Given the description of an element on the screen output the (x, y) to click on. 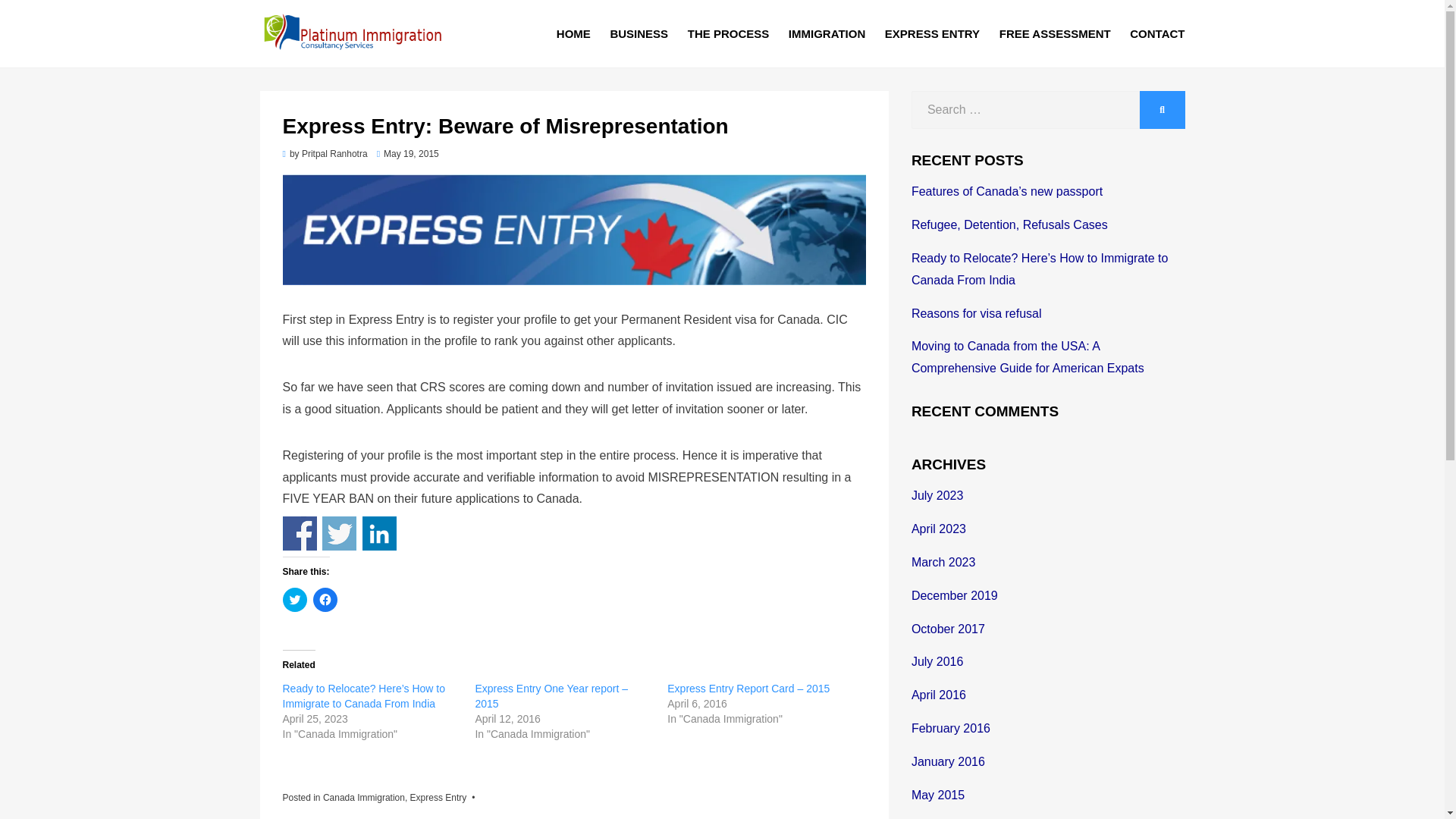
July 2023 (937, 495)
IMMIGRATION (826, 33)
February 2016 (950, 727)
April 2023 (938, 528)
April 2016 (938, 694)
Search for: (1025, 109)
EXPRESS ENTRY (932, 33)
HOME (573, 33)
Share on Facebook (298, 533)
Refugee, Detention, Refusals Cases (1009, 224)
December 2019 (954, 594)
THE PROCESS (728, 33)
Canada Immigration (363, 797)
May 19, 2015 (408, 153)
